Given the description of an element on the screen output the (x, y) to click on. 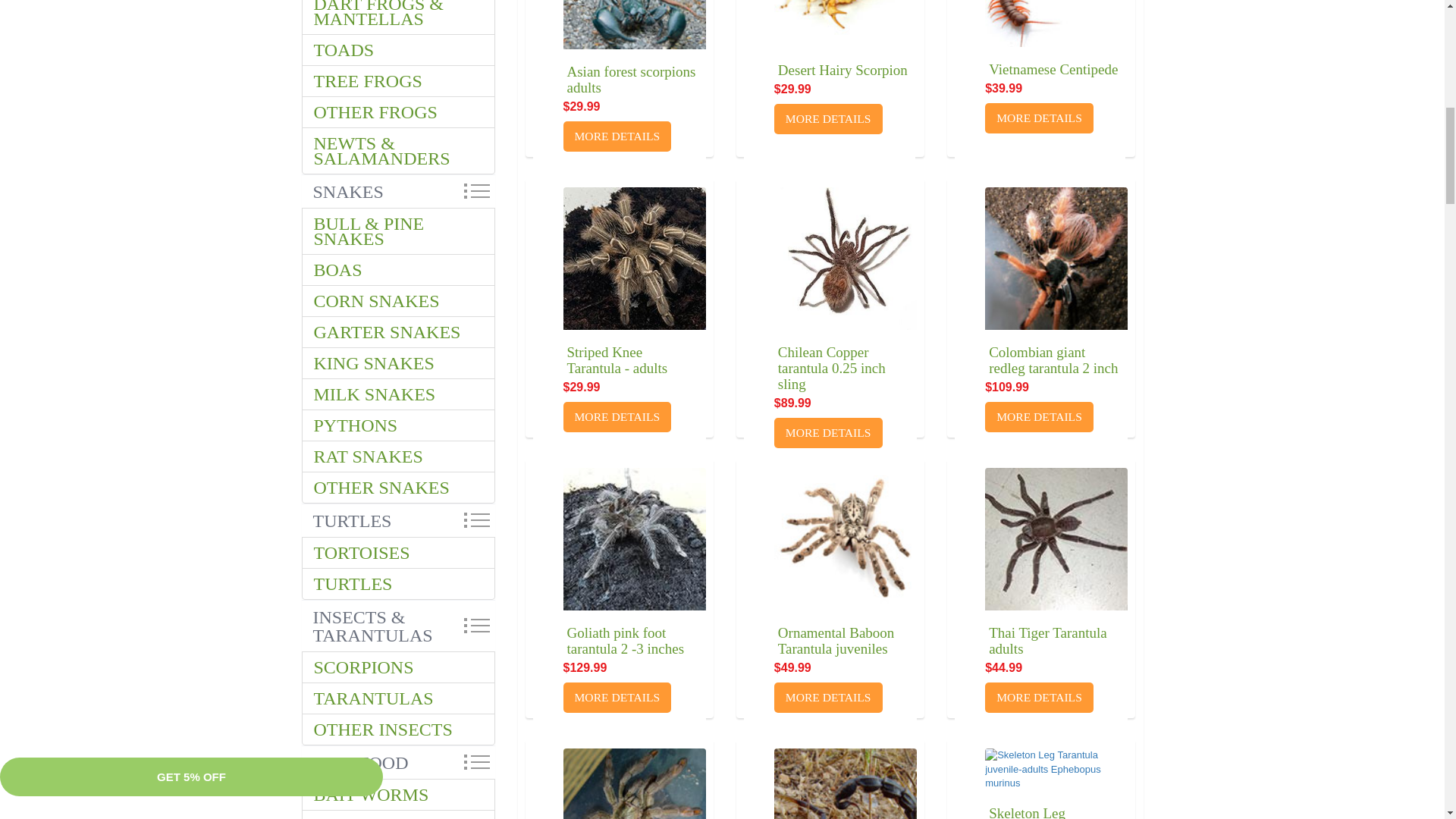
BOAS (398, 269)
TREE FROGS (398, 81)
TOADS (398, 50)
OTHER FROGS (398, 111)
SNAKES (398, 191)
CORN SNAKES (398, 300)
